Given the description of an element on the screen output the (x, y) to click on. 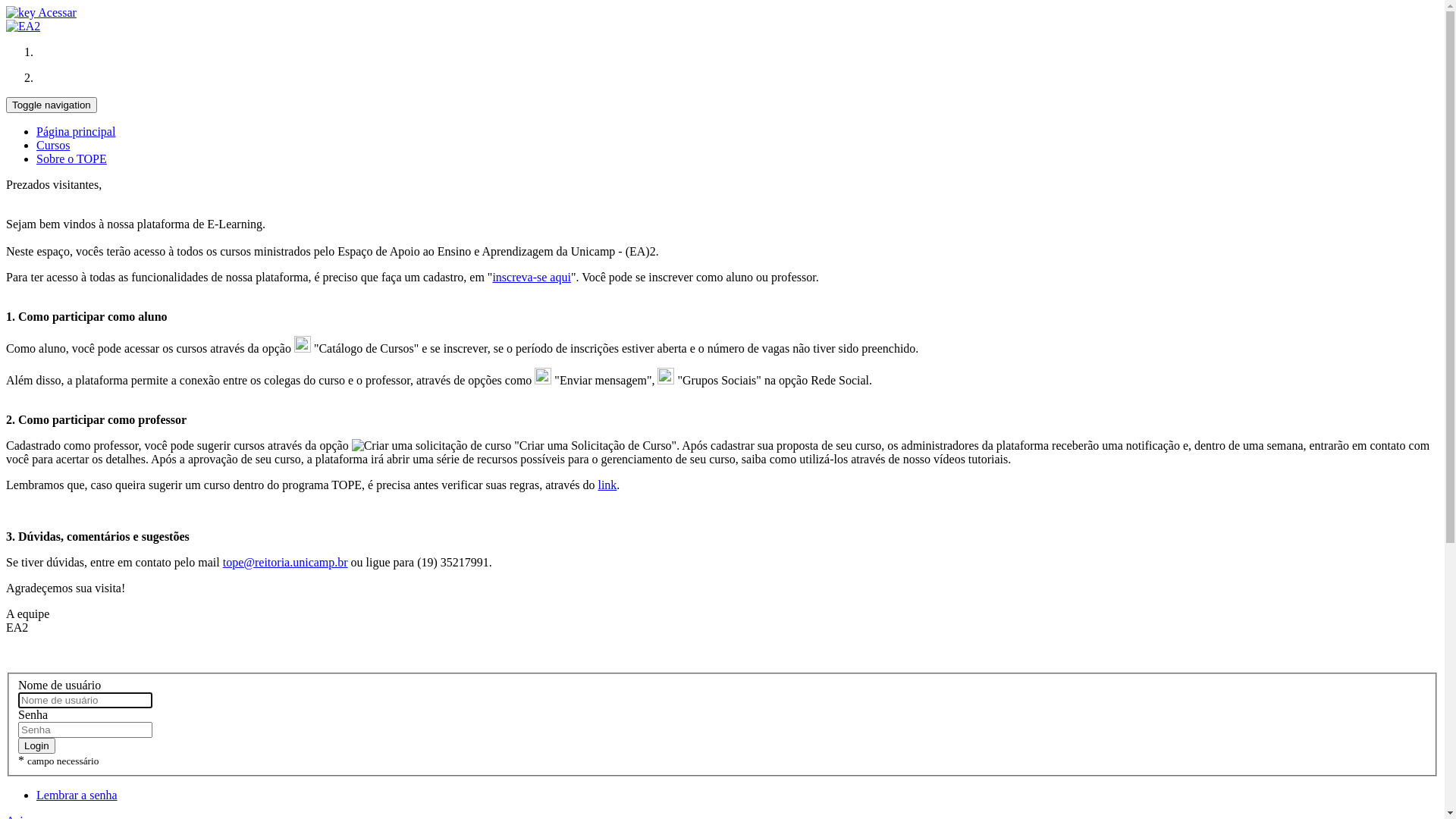
Acessar Element type: text (41, 12)
link Element type: text (606, 484)
Toggle navigation Element type: text (51, 104)
Cursos EA2 Element type: hover (23, 26)
Cursos Element type: text (52, 144)
tope@reitoria.unicamp.br Element type: text (285, 561)
Lembrar a senha Element type: text (76, 794)
Sobre o TOPE Element type: text (71, 158)
Login Element type: text (36, 745)
inscreva-se aqui Element type: text (531, 276)
